Given the description of an element on the screen output the (x, y) to click on. 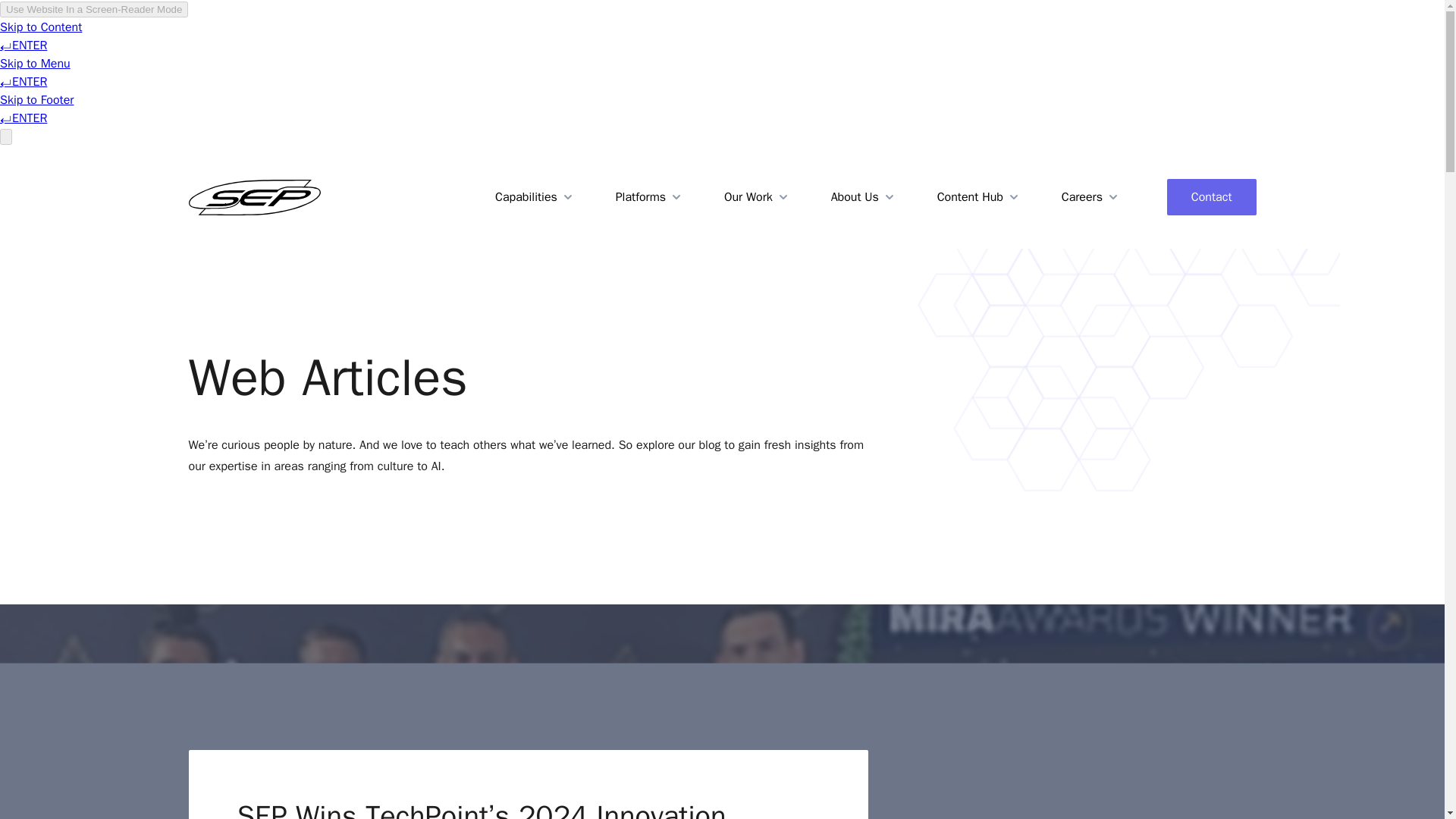
Careers (1091, 197)
Platforms (649, 197)
Content Hub (979, 197)
Capabilities (535, 197)
Contact (1211, 197)
Our Work (756, 197)
About Us (863, 197)
